Given the description of an element on the screen output the (x, y) to click on. 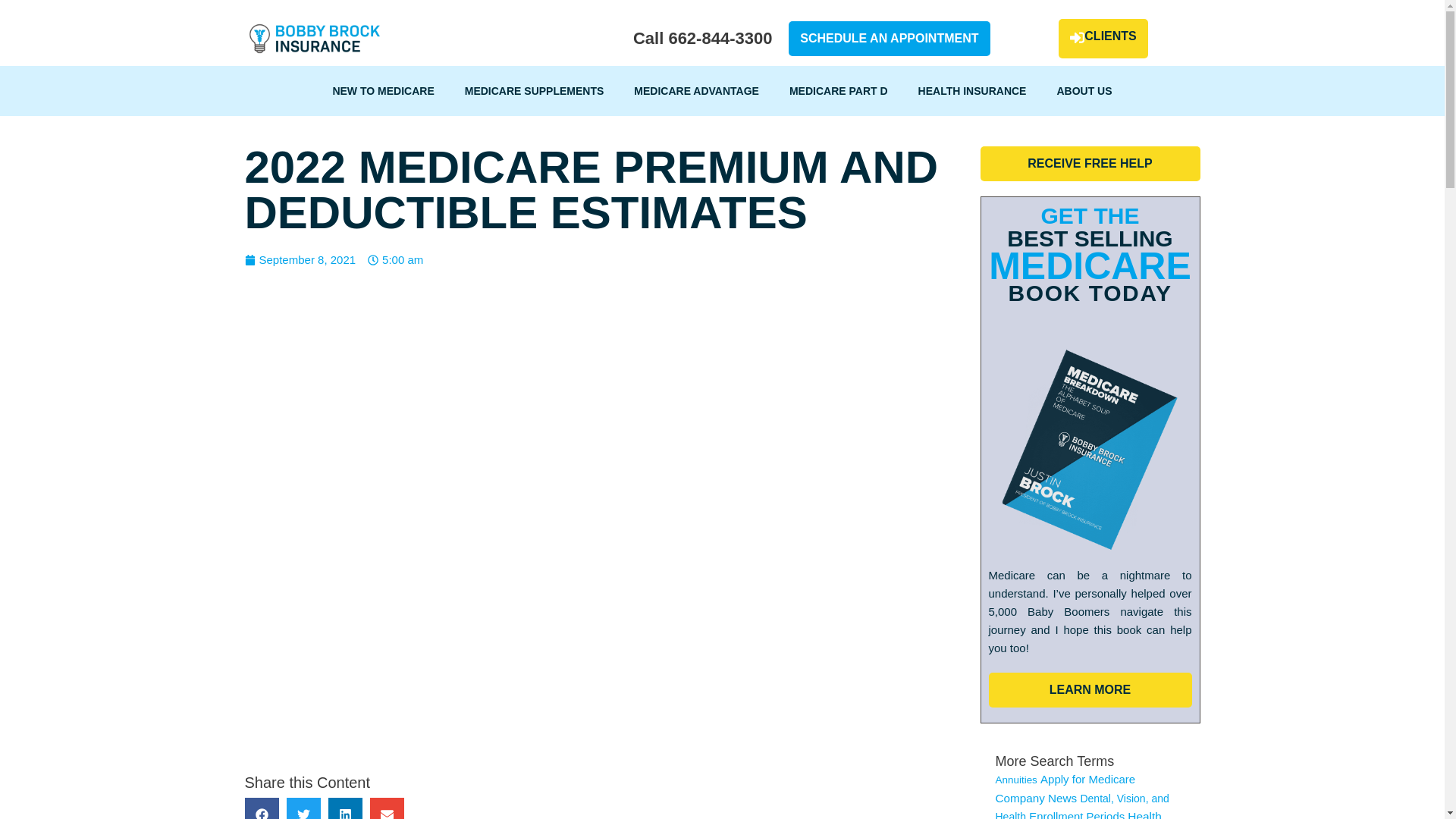
NEW TO MEDICARE (382, 90)
CLIENTS (1103, 38)
MEDICARE SUPPLEMENTS (534, 90)
MEDICARE ADVANTAGE (696, 90)
SCHEDULE AN APPOINTMENT (889, 38)
Call 662-844-3300 (702, 37)
